Given the description of an element on the screen output the (x, y) to click on. 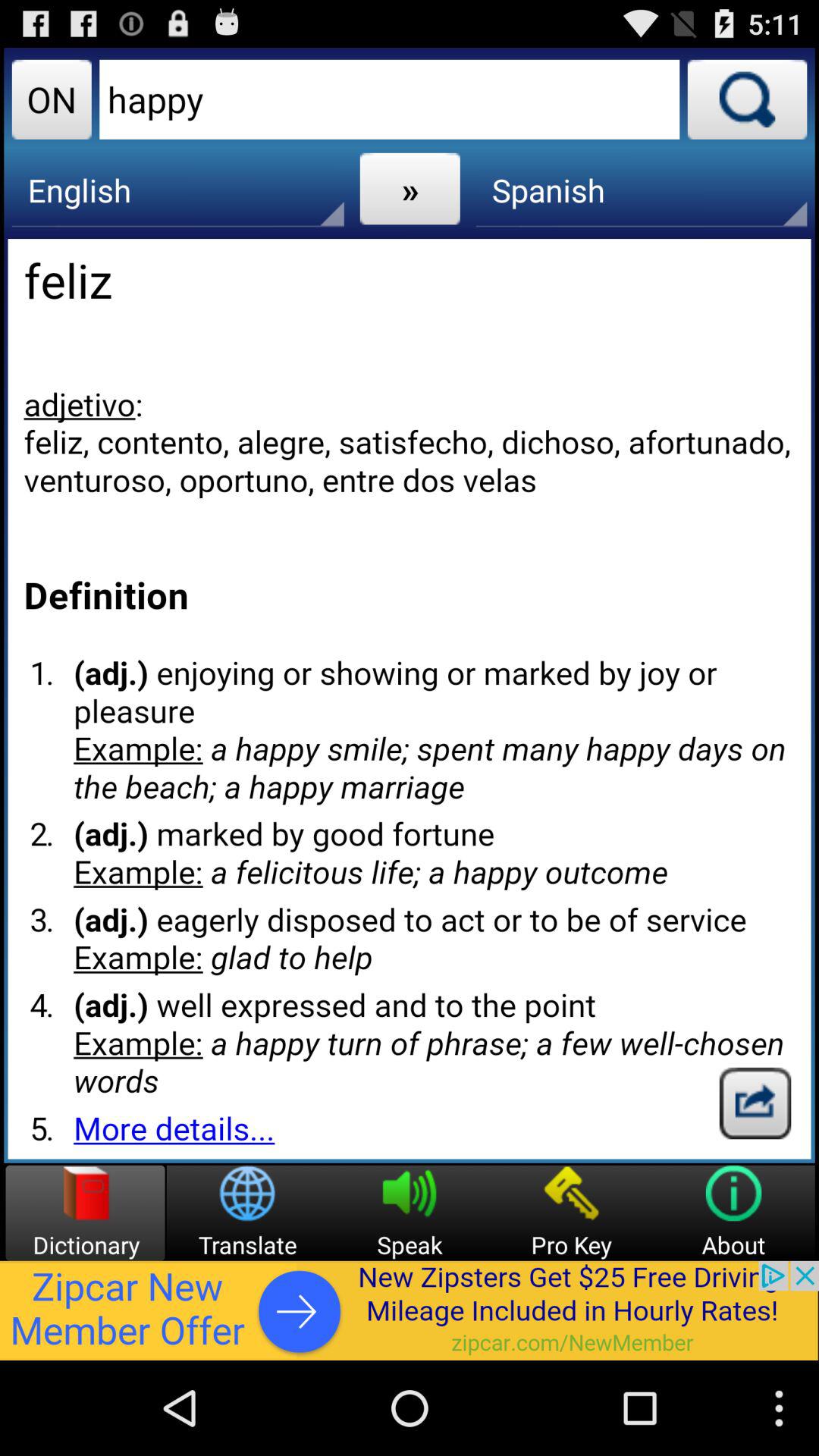
search (747, 99)
